Given the description of an element on the screen output the (x, y) to click on. 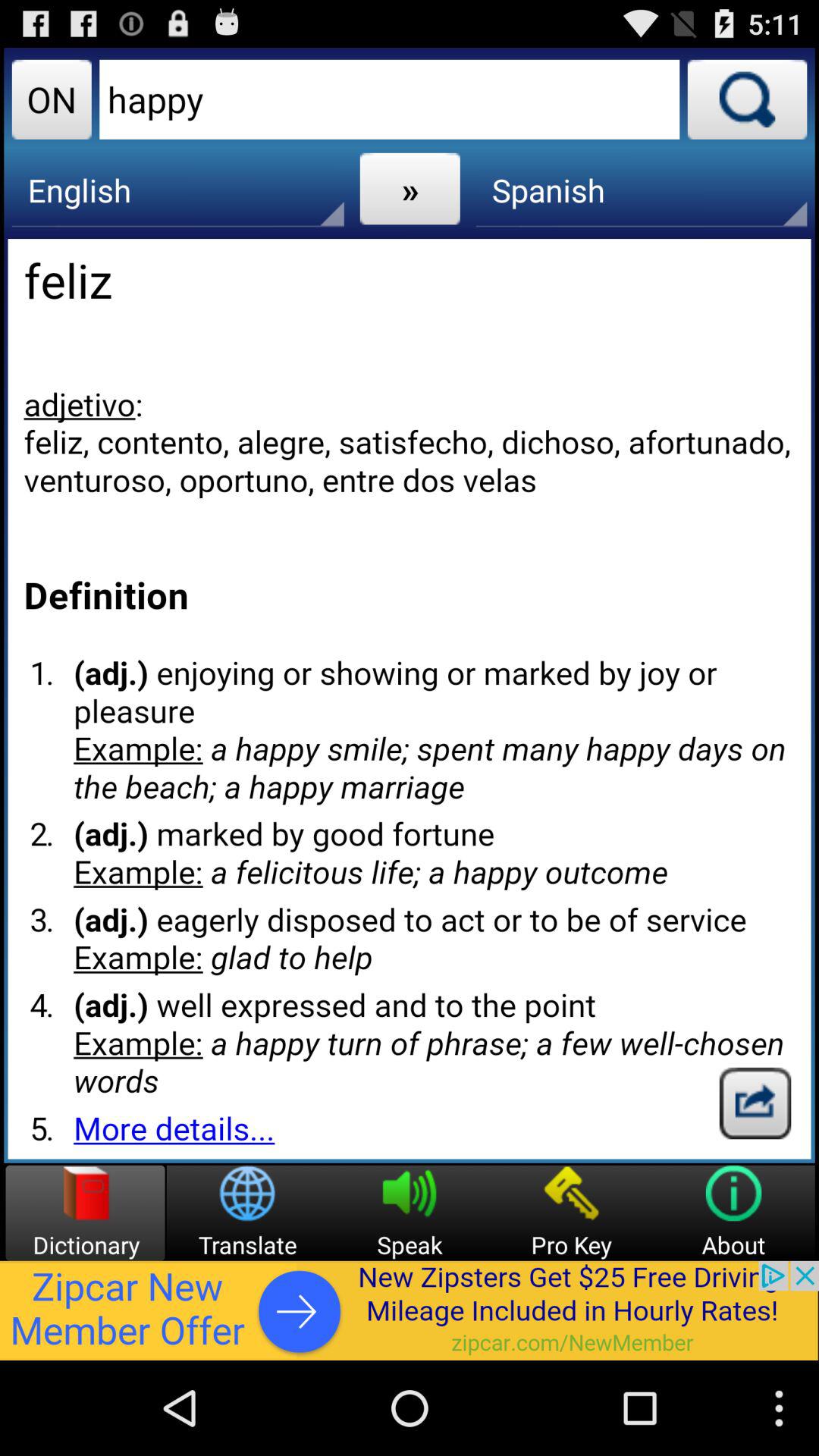
search (747, 99)
